Given the description of an element on the screen output the (x, y) to click on. 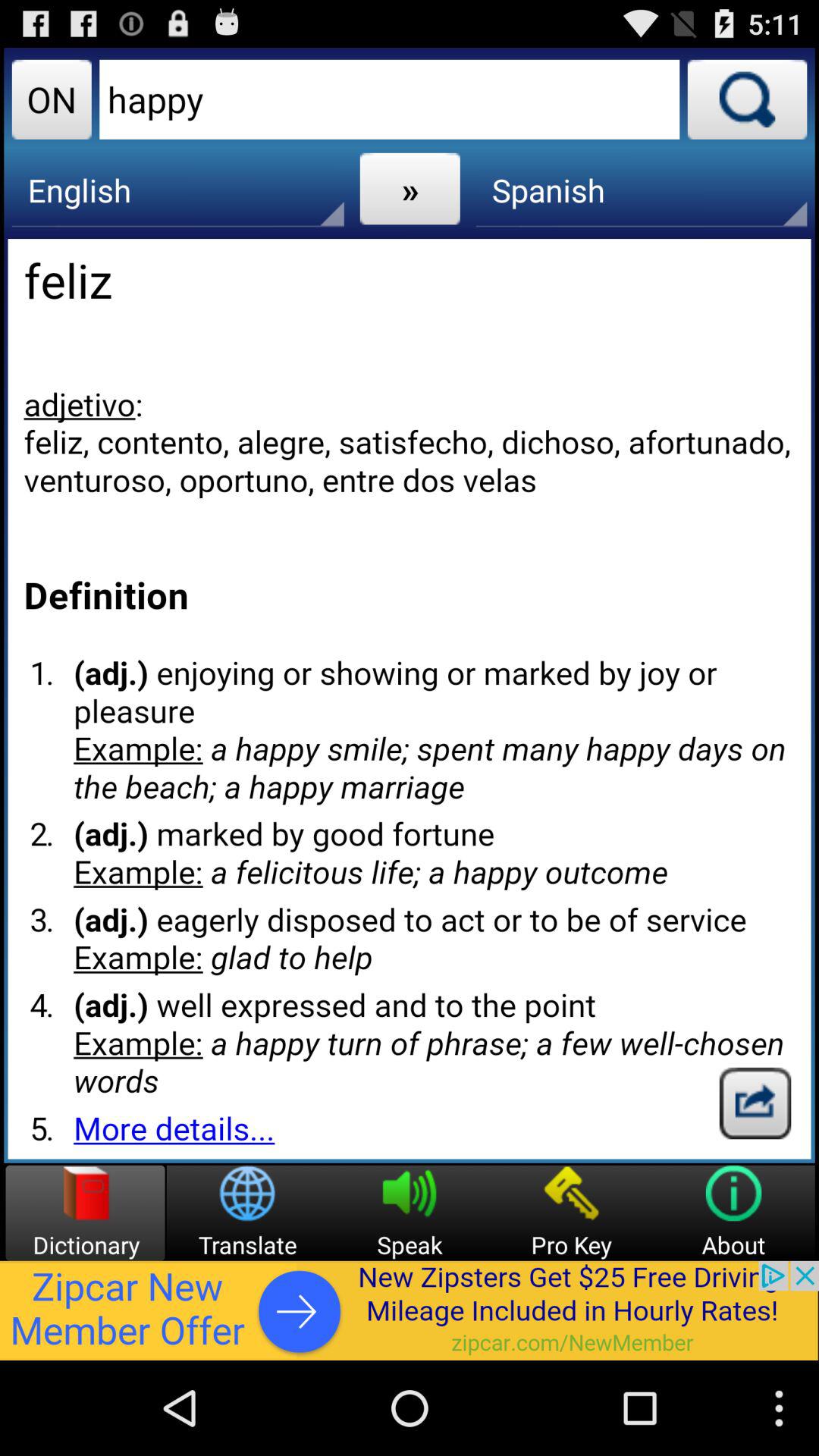
search (747, 99)
